Given the description of an element on the screen output the (x, y) to click on. 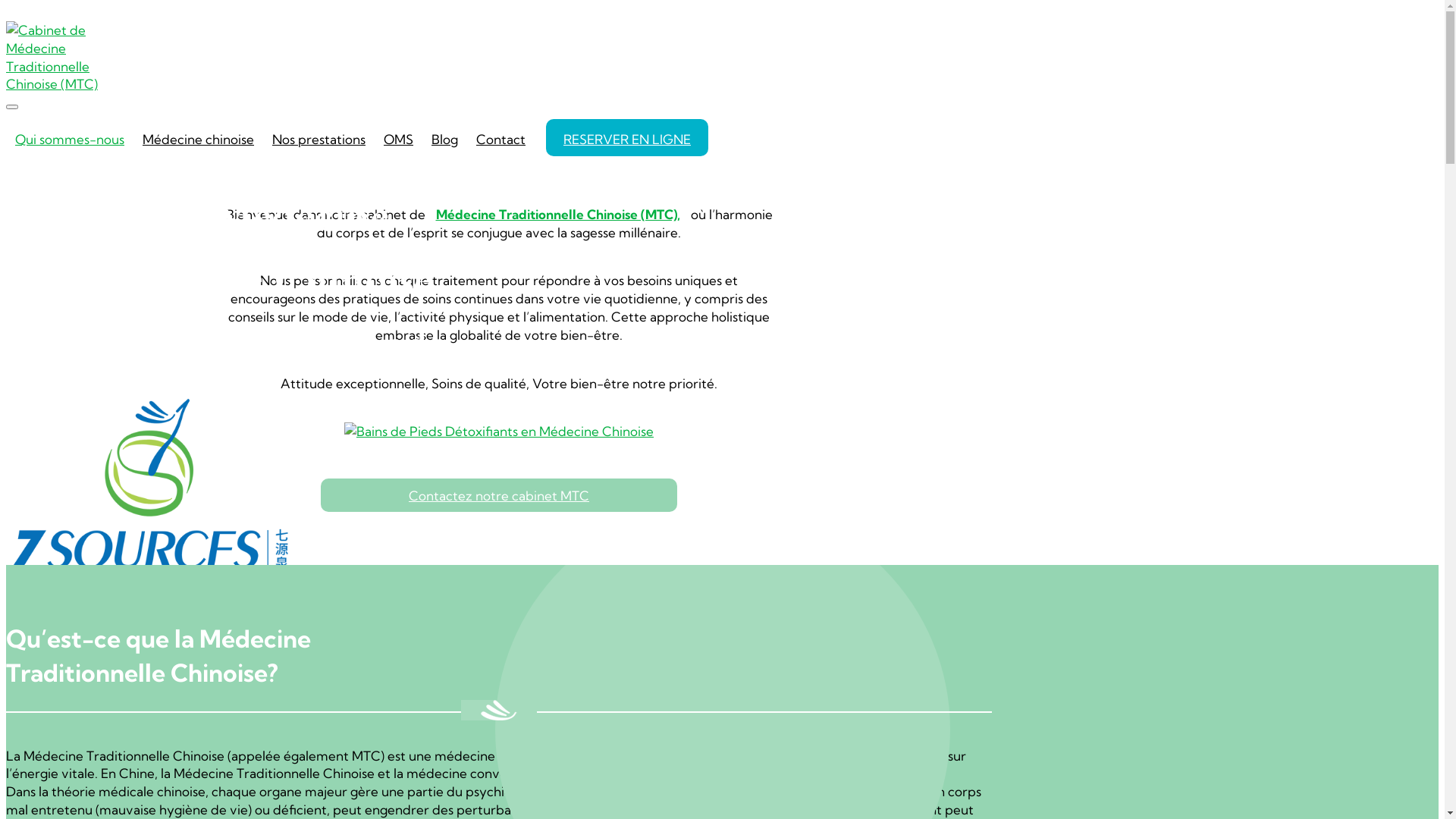
Contactez notre cabinet MTC Element type: text (498, 494)
Blog Element type: text (444, 136)
OMS Element type: text (398, 136)
Contact Element type: text (500, 136)
Nos prestations Element type: text (318, 136)
Qui sommes-nous Element type: text (69, 136)
RESERVER EN LIGNE Element type: text (627, 137)
